Given the description of an element on the screen output the (x, y) to click on. 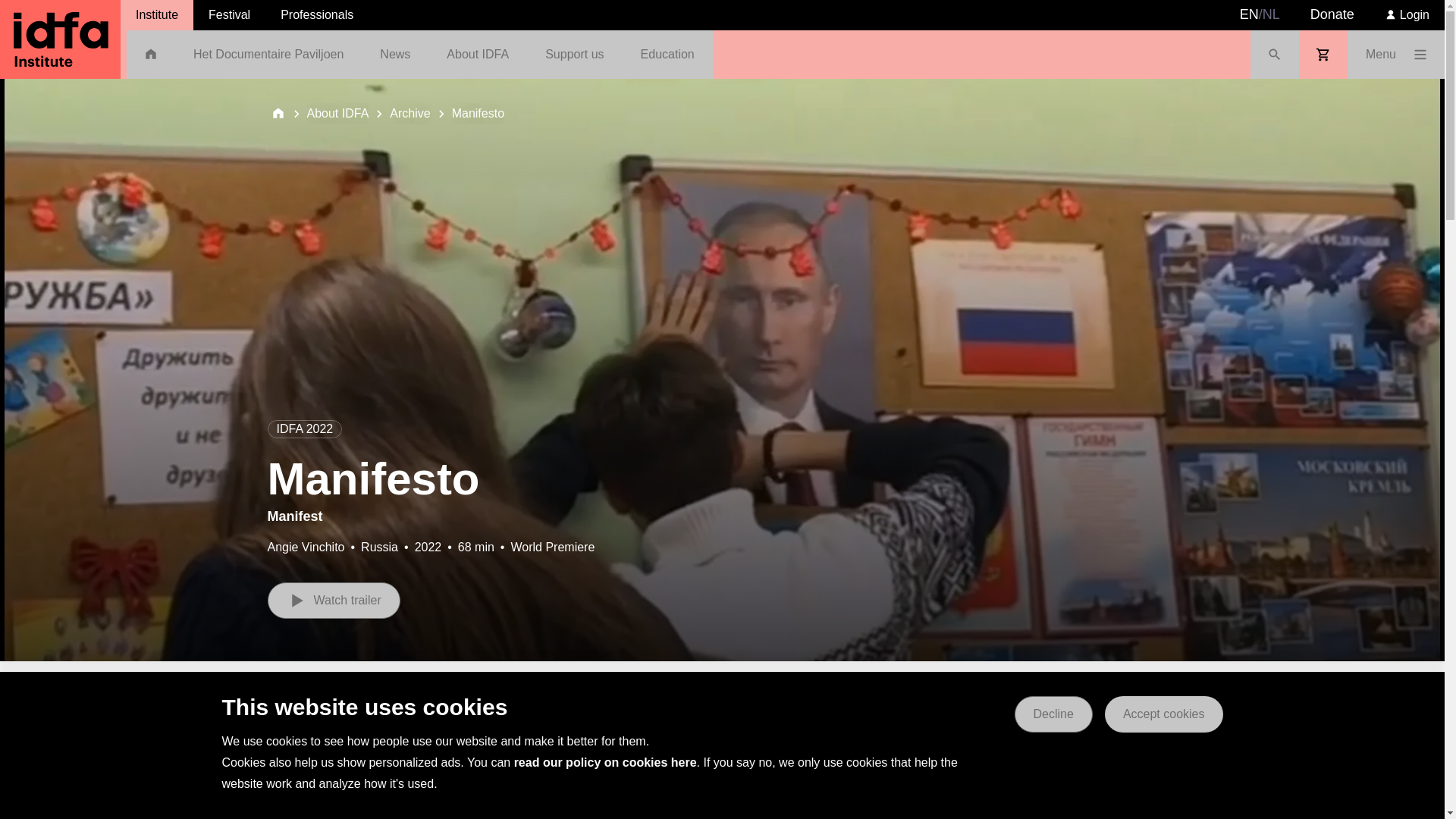
Archive (409, 113)
Het Documentaire Paviljoen (267, 54)
Manifesto (477, 113)
Manifesto (477, 113)
Donate (1332, 15)
Education (668, 54)
About IDFA (336, 113)
Archive (409, 113)
About IDFA (336, 113)
IDFA 2022 (312, 747)
Support us (574, 54)
Watch trailer (332, 600)
Professionals (316, 15)
Institute (156, 15)
News (394, 54)
